Given the description of an element on the screen output the (x, y) to click on. 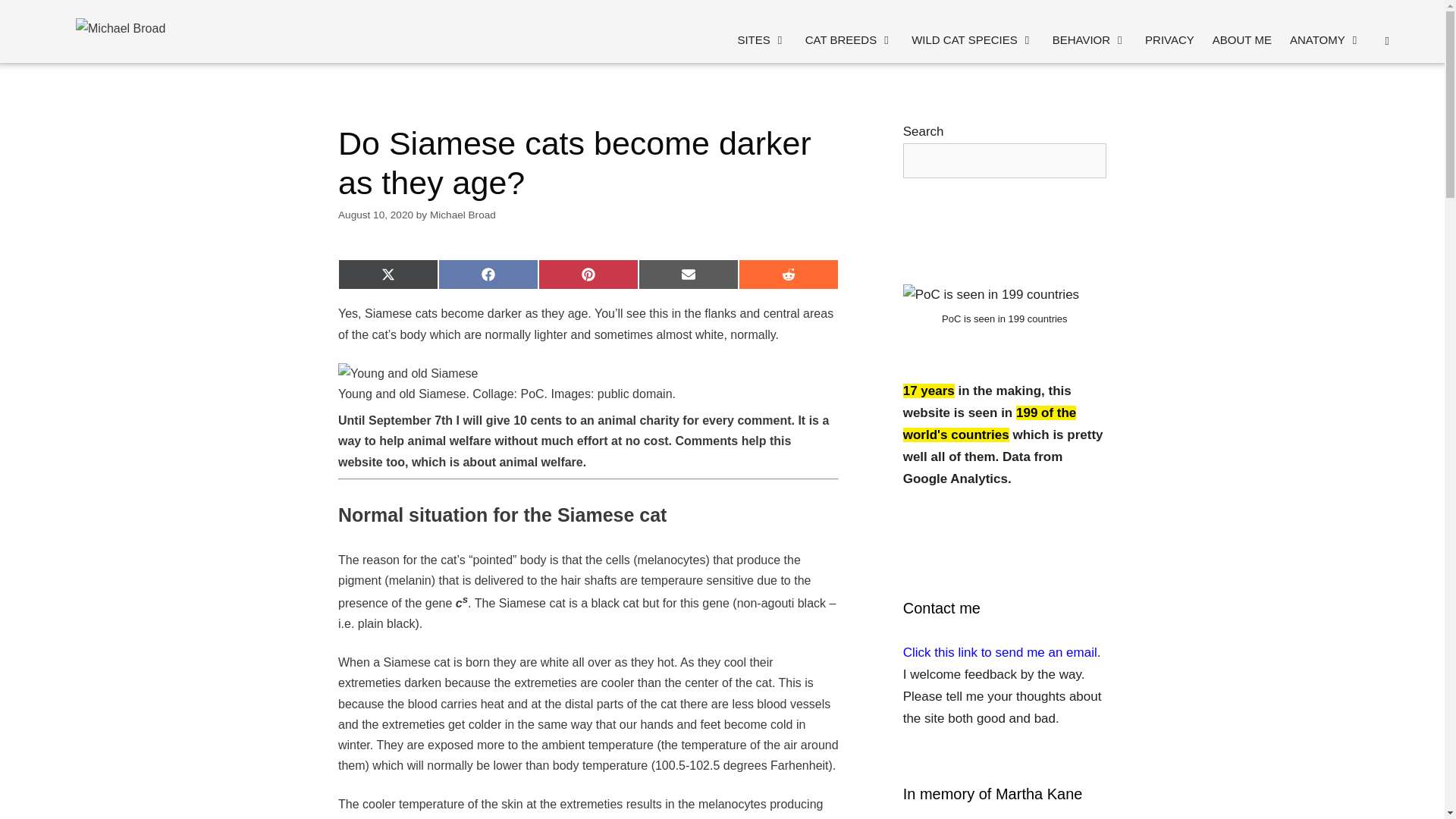
WILD CAT SPECIES (972, 40)
CAT BREEDS (849, 40)
All the wild cat species listed (972, 40)
All the cat breeds fully discussed and illustrated (849, 40)
SITES (761, 40)
BEHAVIOR (1089, 40)
